Given the description of an element on the screen output the (x, y) to click on. 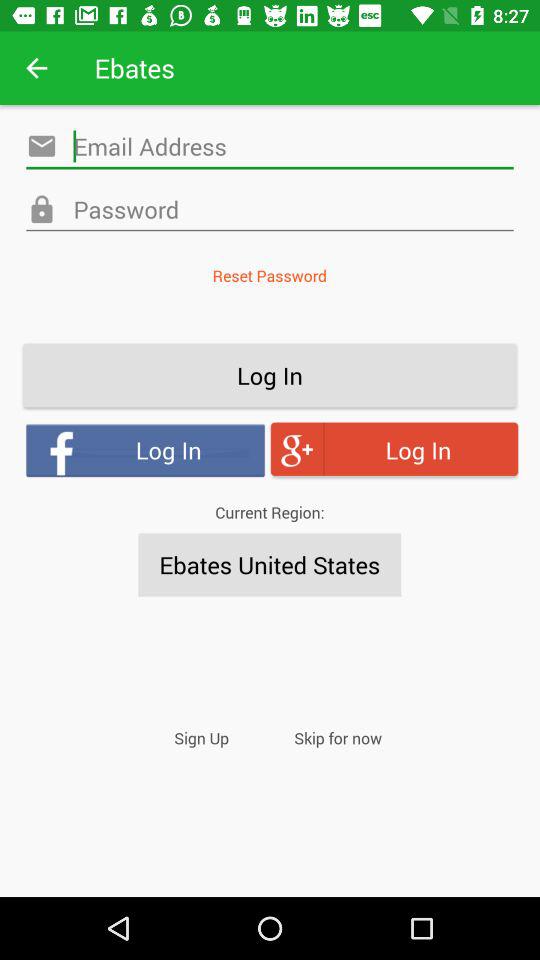
choose the skip for now icon (337, 737)
